Given the description of an element on the screen output the (x, y) to click on. 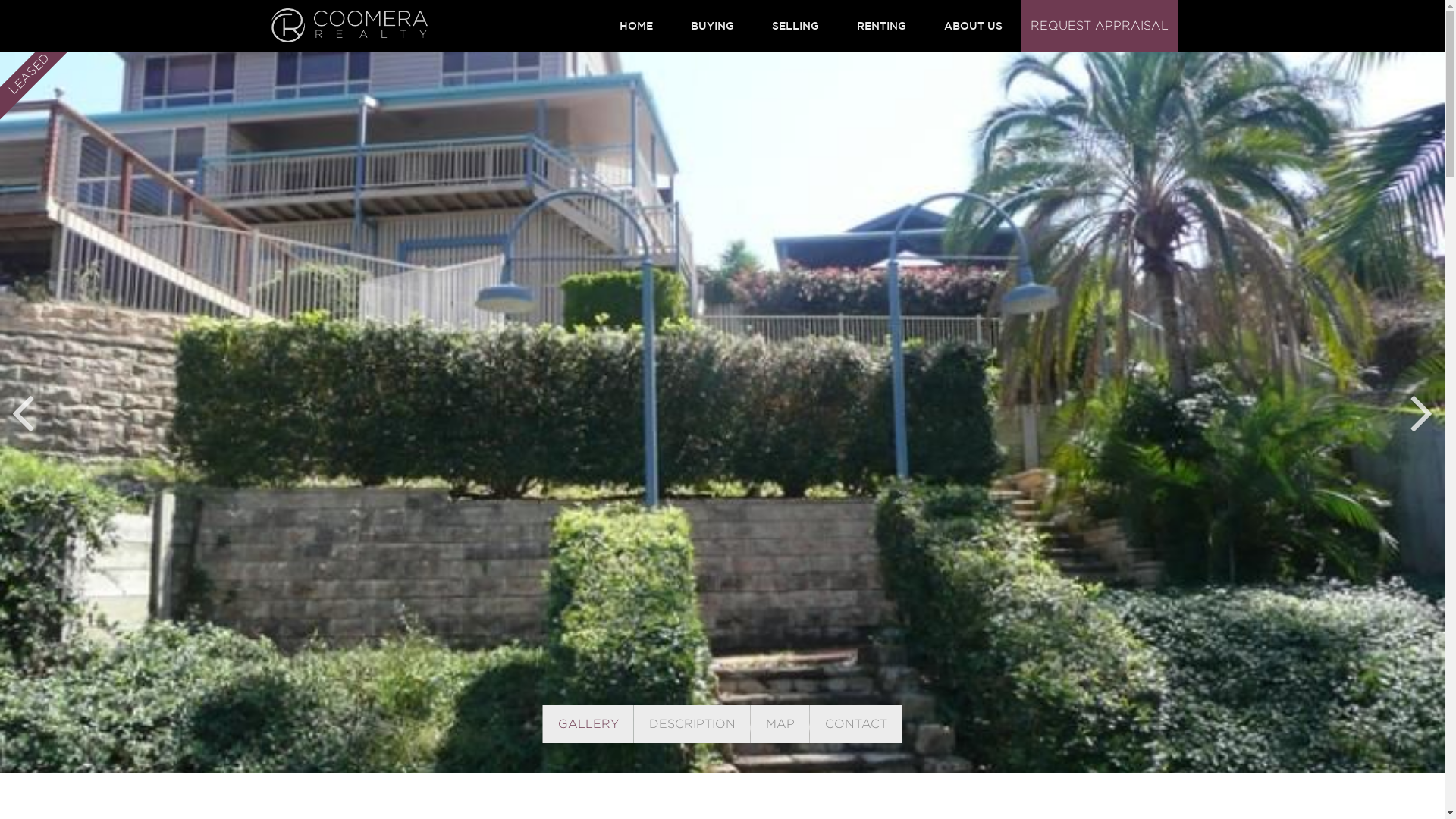
DESCRIPTION Element type: text (691, 724)
Coomera Realty -  Element type: hover (349, 25)
GALLERY Element type: text (587, 724)
CONTACT Element type: text (855, 724)
REQUEST APPRAISAL Element type: text (1098, 25)
BUYING Element type: text (712, 25)
ABOUT US Element type: text (973, 25)
MAP Element type: text (779, 724)
RENTING Element type: text (880, 25)
SELLING Element type: text (794, 25)
HOME Element type: text (635, 25)
